Given the description of an element on the screen output the (x, y) to click on. 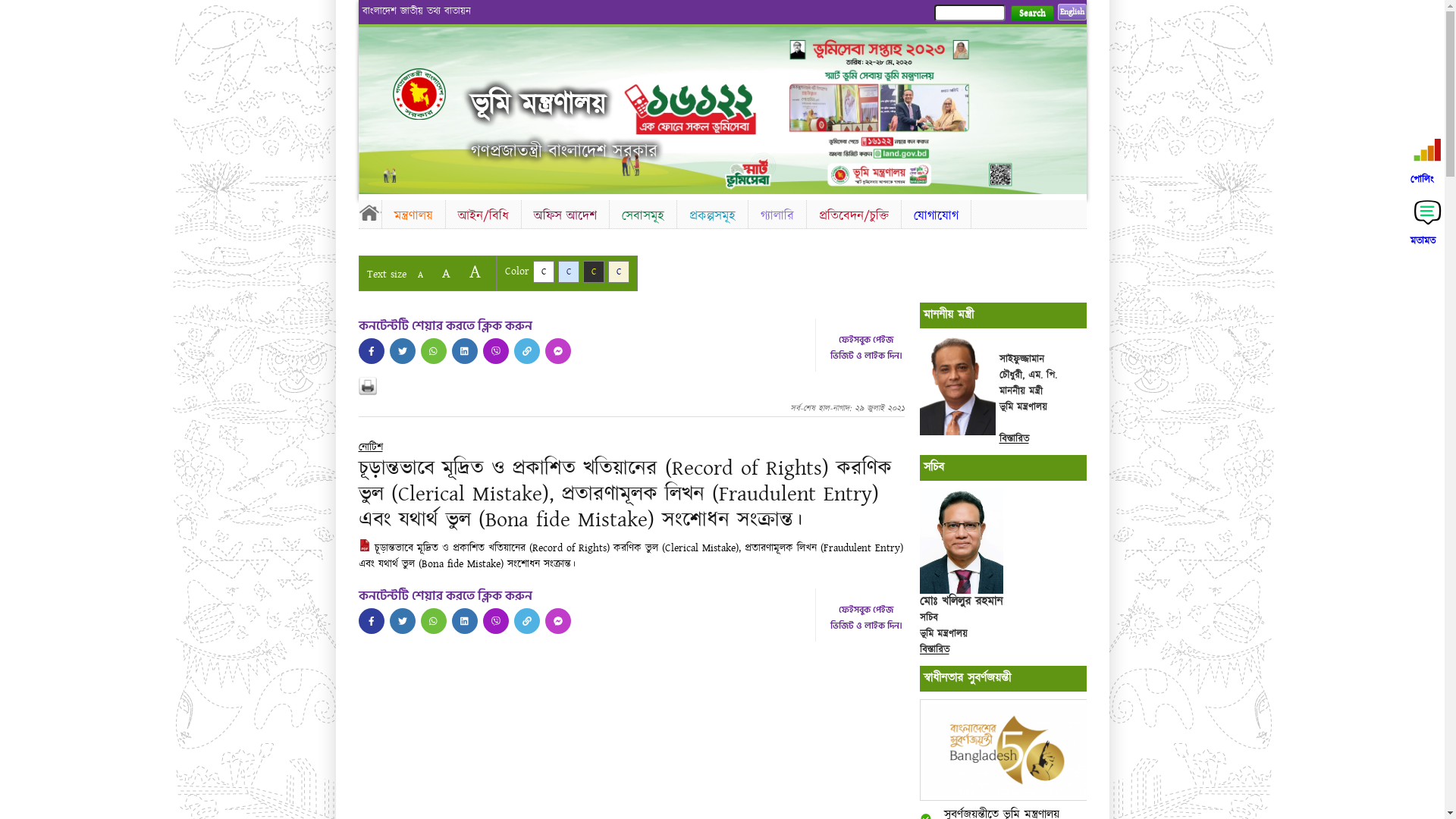
C Element type: text (542, 271)
A Element type: text (474, 271)
A Element type: text (445, 273)
Search Element type: text (1031, 13)
A Element type: text (419, 274)
Home Element type: hover (368, 211)
C Element type: text (592, 271)
C Element type: text (568, 271)
Home Element type: hover (431, 93)
C Element type: text (618, 271)
English Element type: text (1071, 11)
